Given the description of an element on the screen output the (x, y) to click on. 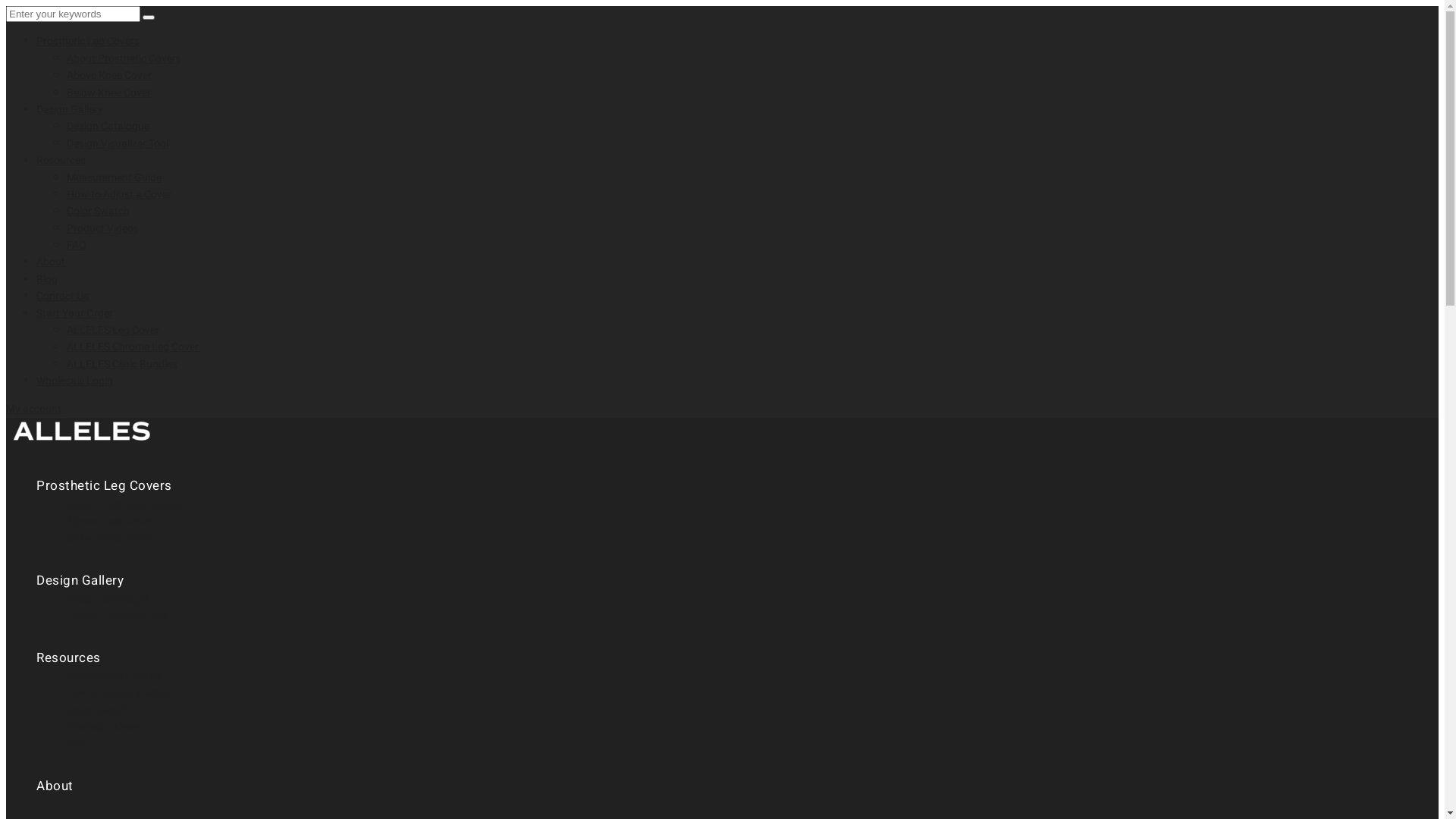
Product Videos Element type: text (102, 228)
Design Visualizer Tool Element type: text (117, 615)
About Prosthetic Covers Element type: text (123, 504)
Color Swatch Element type: text (97, 211)
Below Knee Cover Element type: text (108, 92)
Above Knee Cover Element type: text (108, 521)
Above Knee Cover Element type: text (108, 75)
Design Gallery Element type: text (79, 580)
Design Visualizer Tool Element type: text (117, 143)
Below Knee Cover Element type: text (108, 538)
About Element type: text (54, 785)
ALLELES Design Studio Element type: hover (81, 444)
Start Your Order Element type: text (74, 313)
Design Gallery Element type: text (69, 109)
Resources Element type: text (68, 657)
My account Element type: text (33, 409)
Prosthetic Leg Covers Element type: text (104, 485)
About Prosthetic Covers Element type: text (123, 58)
How to Adjust a Cover Element type: text (118, 692)
Prosthetic Leg Covers Element type: text (87, 41)
About Element type: text (50, 261)
FAQ Element type: text (76, 743)
Contact Us Element type: text (62, 296)
ALLELES Clinic Bundles Element type: text (121, 364)
Measurement Guide Element type: text (113, 676)
Measurement Guide Element type: text (113, 177)
ALLELES Leg Cover Element type: text (112, 330)
Wholesale Login Element type: text (74, 381)
Design Catalogue Element type: text (107, 126)
How to Adjust a Cover Element type: text (118, 194)
Resources Element type: text (60, 160)
Product Videos Element type: text (102, 726)
FAQ Element type: text (76, 245)
Design Catalogue Element type: text (107, 598)
Color Swatch Element type: text (97, 710)
ALLELES Chrome Leg Cover Element type: text (132, 346)
Blog Element type: text (46, 279)
